Given the description of an element on the screen output the (x, y) to click on. 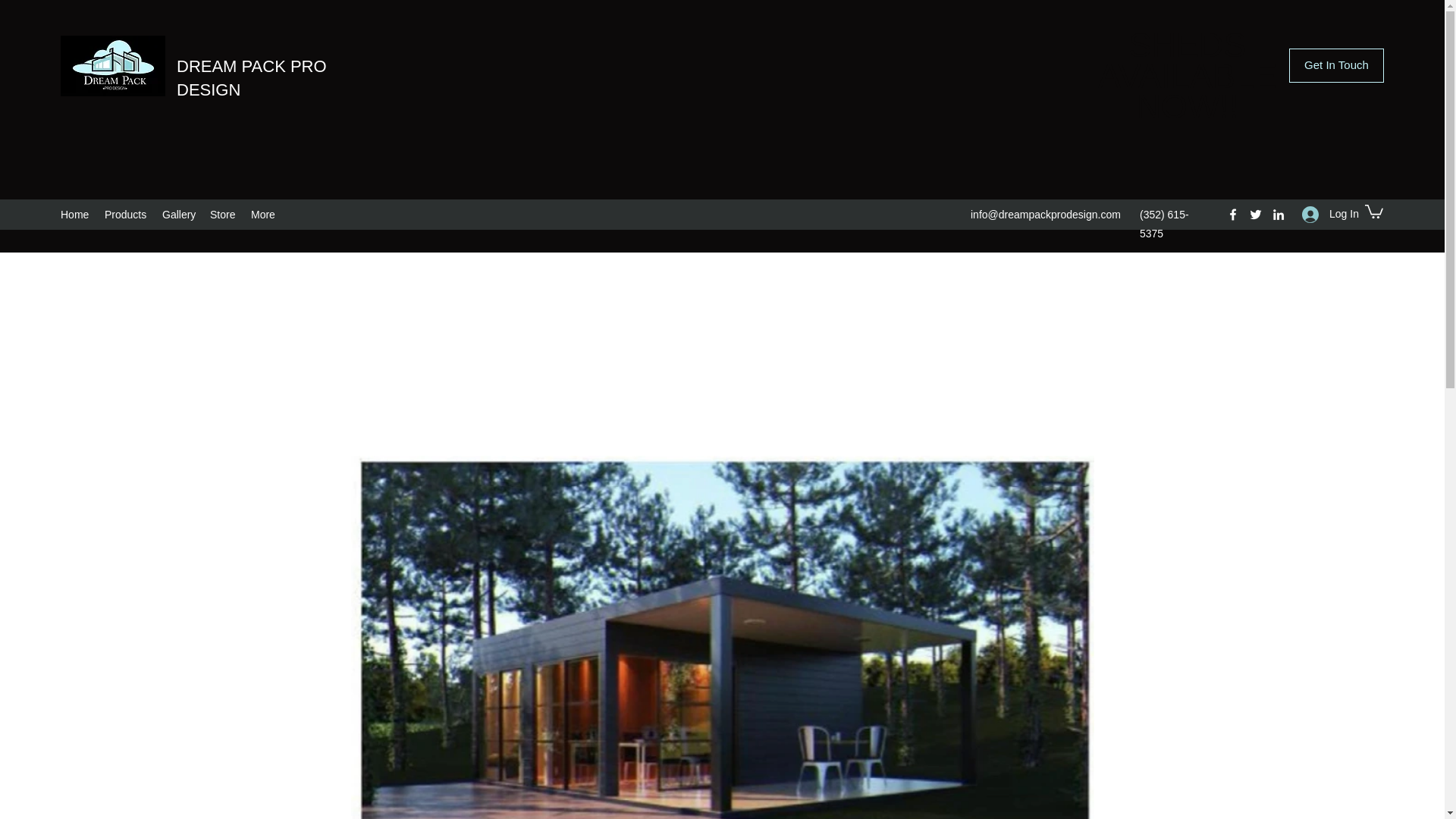
Log In (1325, 213)
Gallery (178, 214)
Home (74, 214)
Store (222, 214)
Get In Touch (1336, 65)
Products (125, 214)
